Given the description of an element on the screen output the (x, y) to click on. 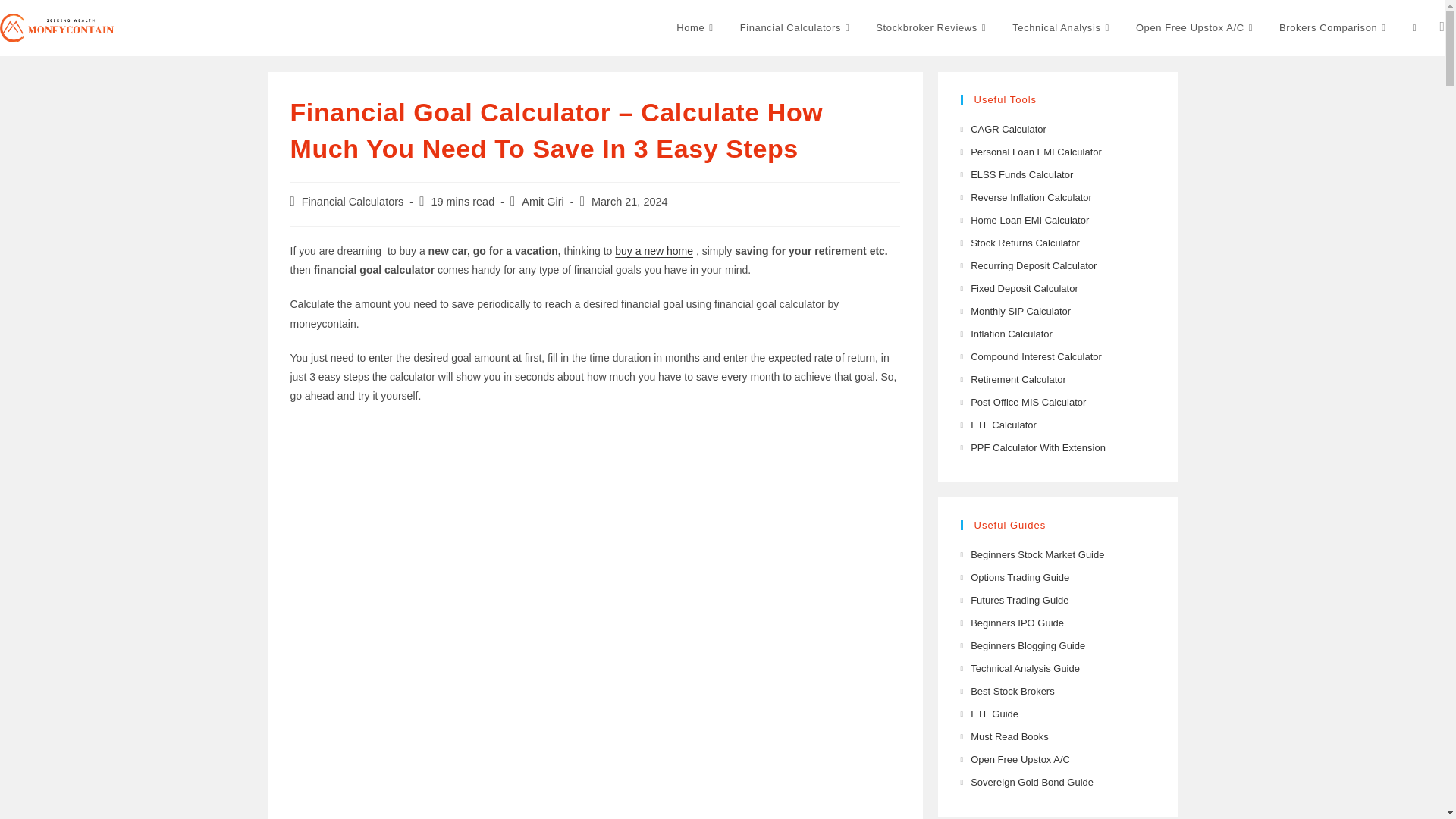
Home (696, 28)
Technical Analysis (1062, 28)
Posts by Amit Giri (542, 201)
Financial Calculators (796, 28)
Stockbroker Reviews (932, 28)
